Given the description of an element on the screen output the (x, y) to click on. 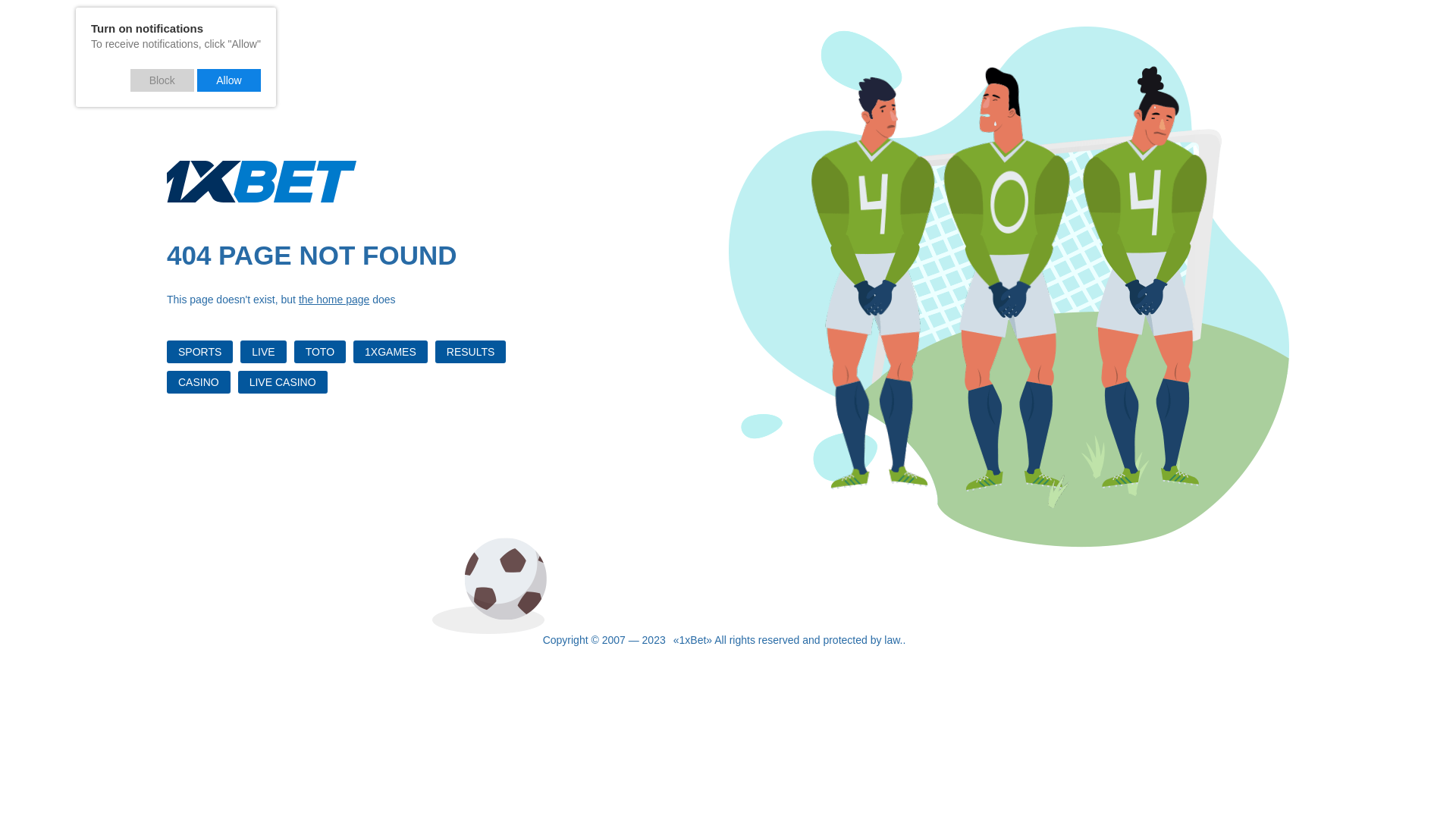
LIVE CASINO Element type: text (282, 381)
the home page Element type: text (333, 299)
Allow Element type: text (228, 80)
TOTO Element type: text (319, 351)
Block Element type: text (162, 80)
SPORTS Element type: text (199, 351)
CASINO Element type: text (198, 381)
1XGAMES Element type: text (390, 351)
LIVE Element type: text (262, 351)
RESULTS Element type: text (470, 351)
